Given the description of an element on the screen output the (x, y) to click on. 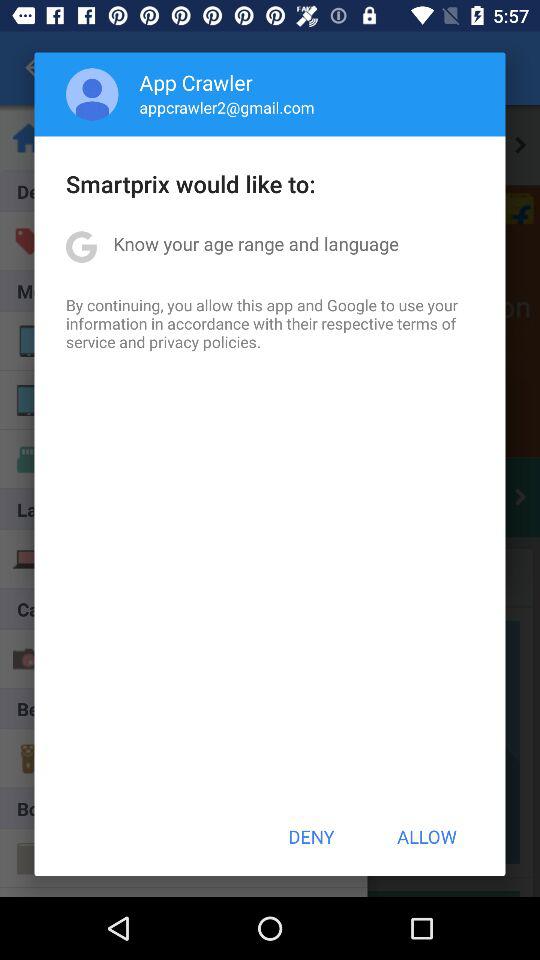
choose app above the smartprix would like app (92, 94)
